Given the description of an element on the screen output the (x, y) to click on. 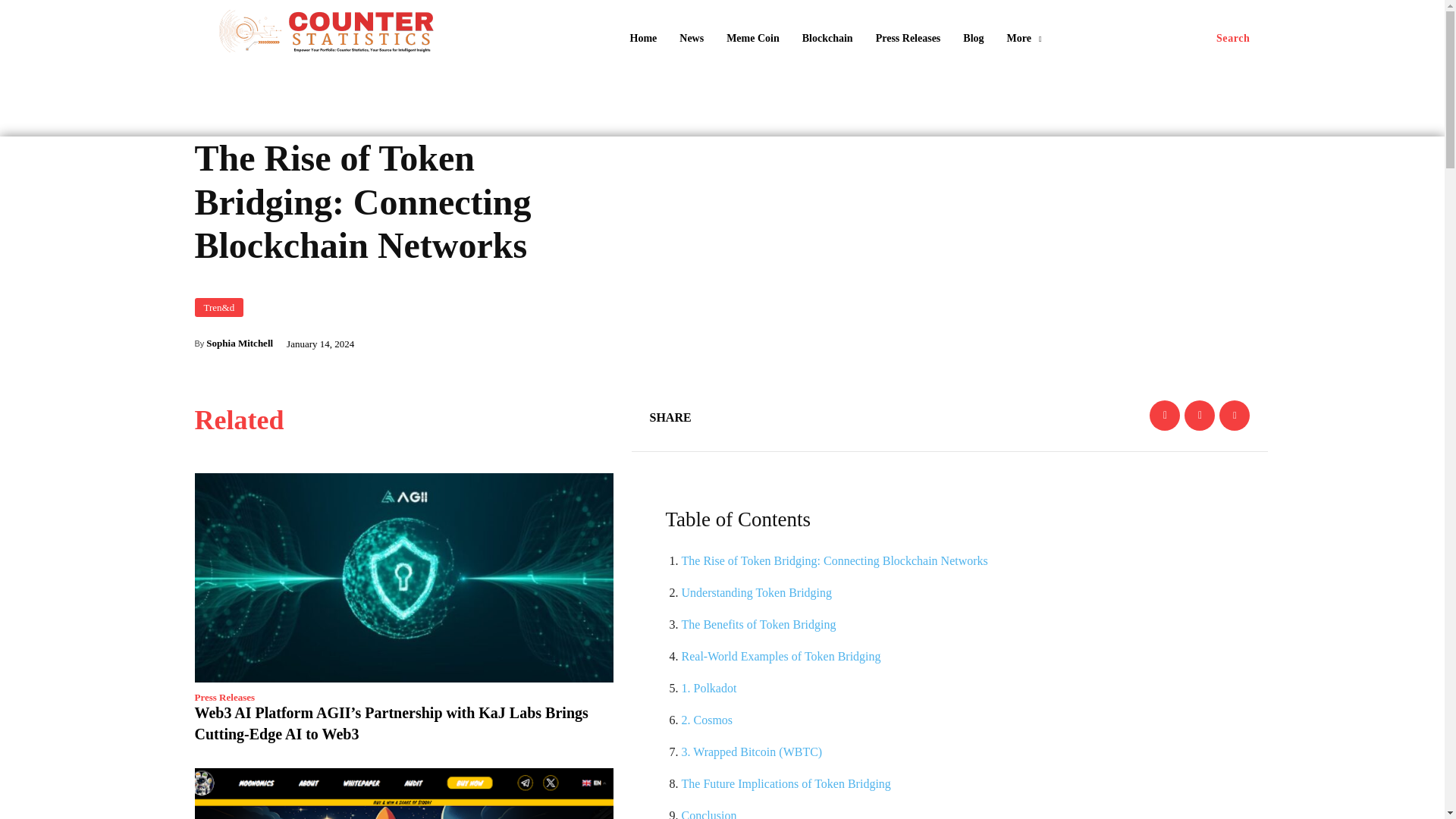
Blog (973, 38)
Home (642, 38)
More (1023, 38)
Press Releases (908, 38)
Search (1232, 38)
News (691, 38)
Meme Coin (753, 38)
Blockchain (827, 38)
